Given the description of an element on the screen output the (x, y) to click on. 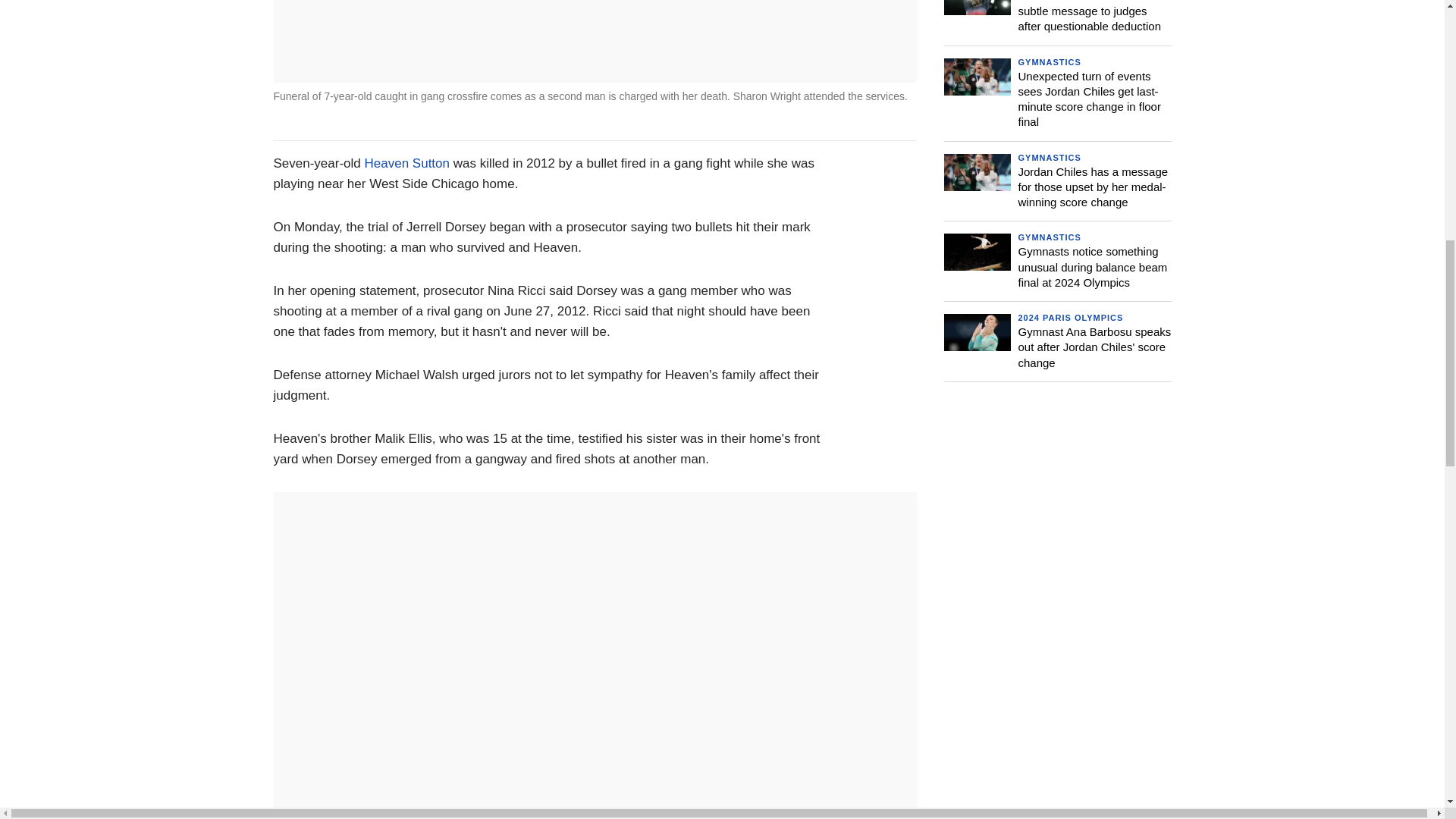
GYMNASTICS (1048, 61)
Heaven Sutton (407, 163)
